Given the description of an element on the screen output the (x, y) to click on. 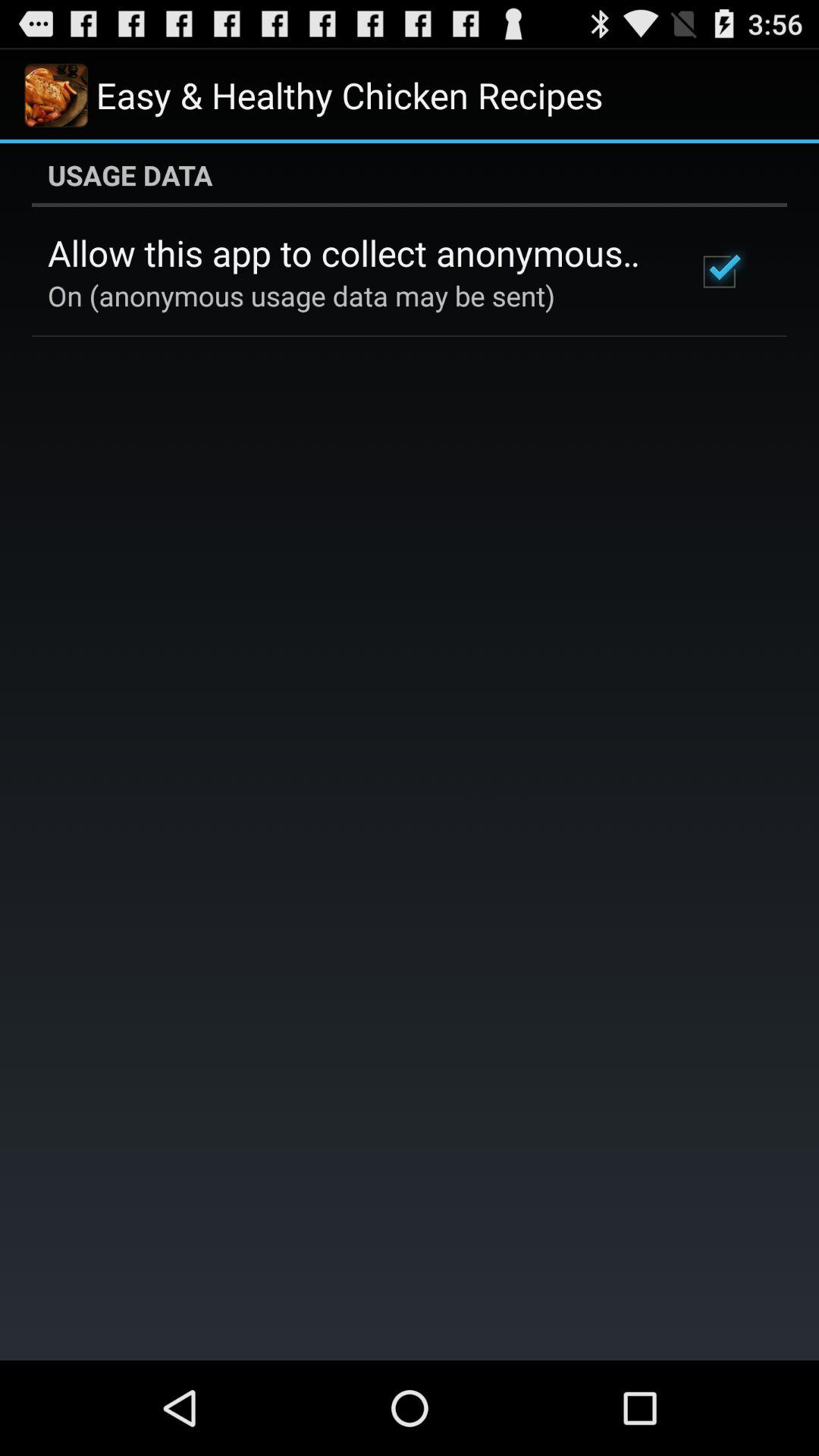
turn on app above on anonymous usage icon (351, 252)
